Given the description of an element on the screen output the (x, y) to click on. 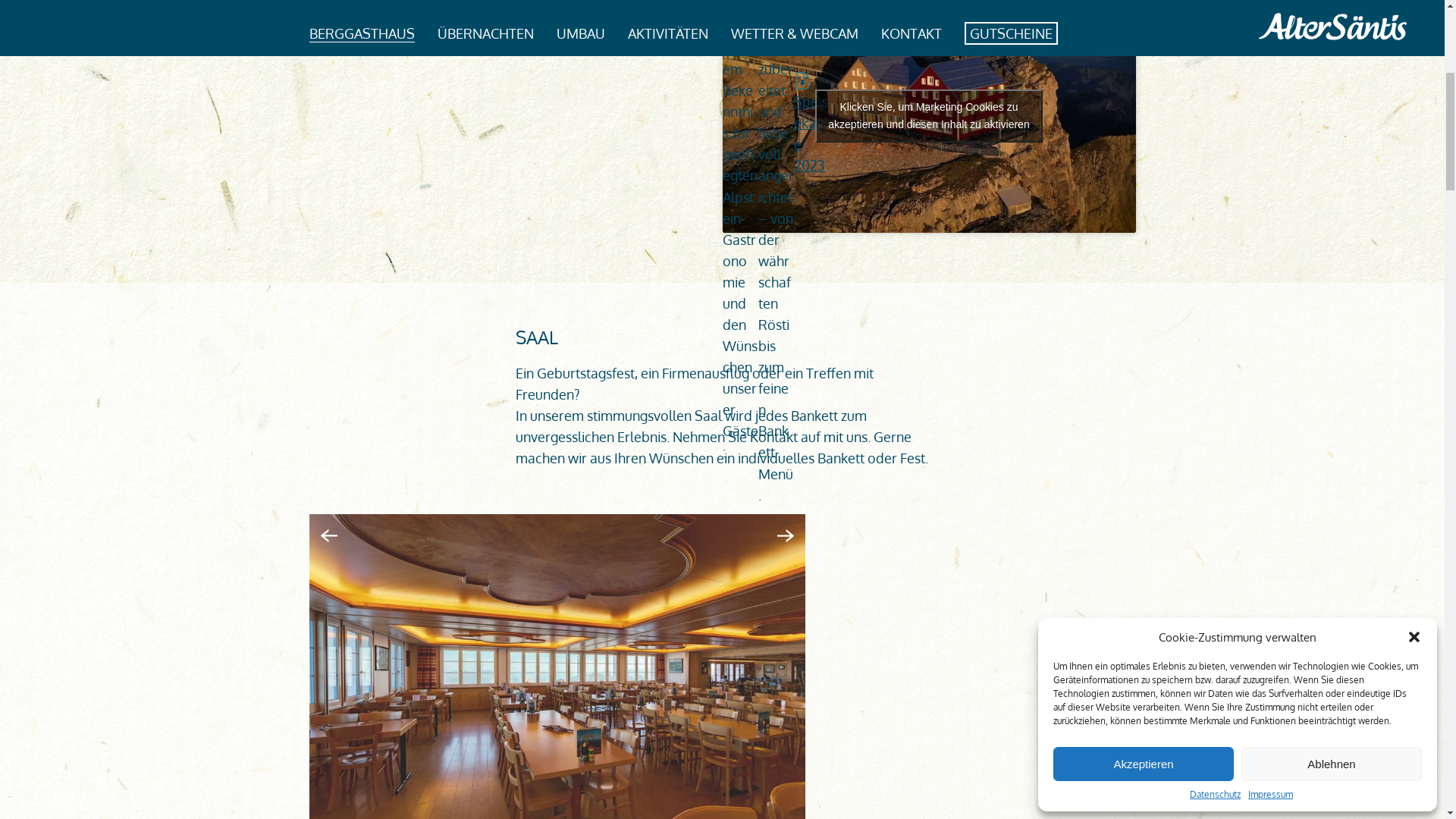
BERGGASTHAUS Element type: text (361, 462)
UMBAU Element type: text (580, 462)
Speisekarte 2023 Element type: text (810, 551)
GUTSCHEINE Element type: text (1010, 462)
WETTER & WEBCAM Element type: text (794, 462)
KONTAKT Element type: text (911, 462)
